Given the description of an element on the screen output the (x, y) to click on. 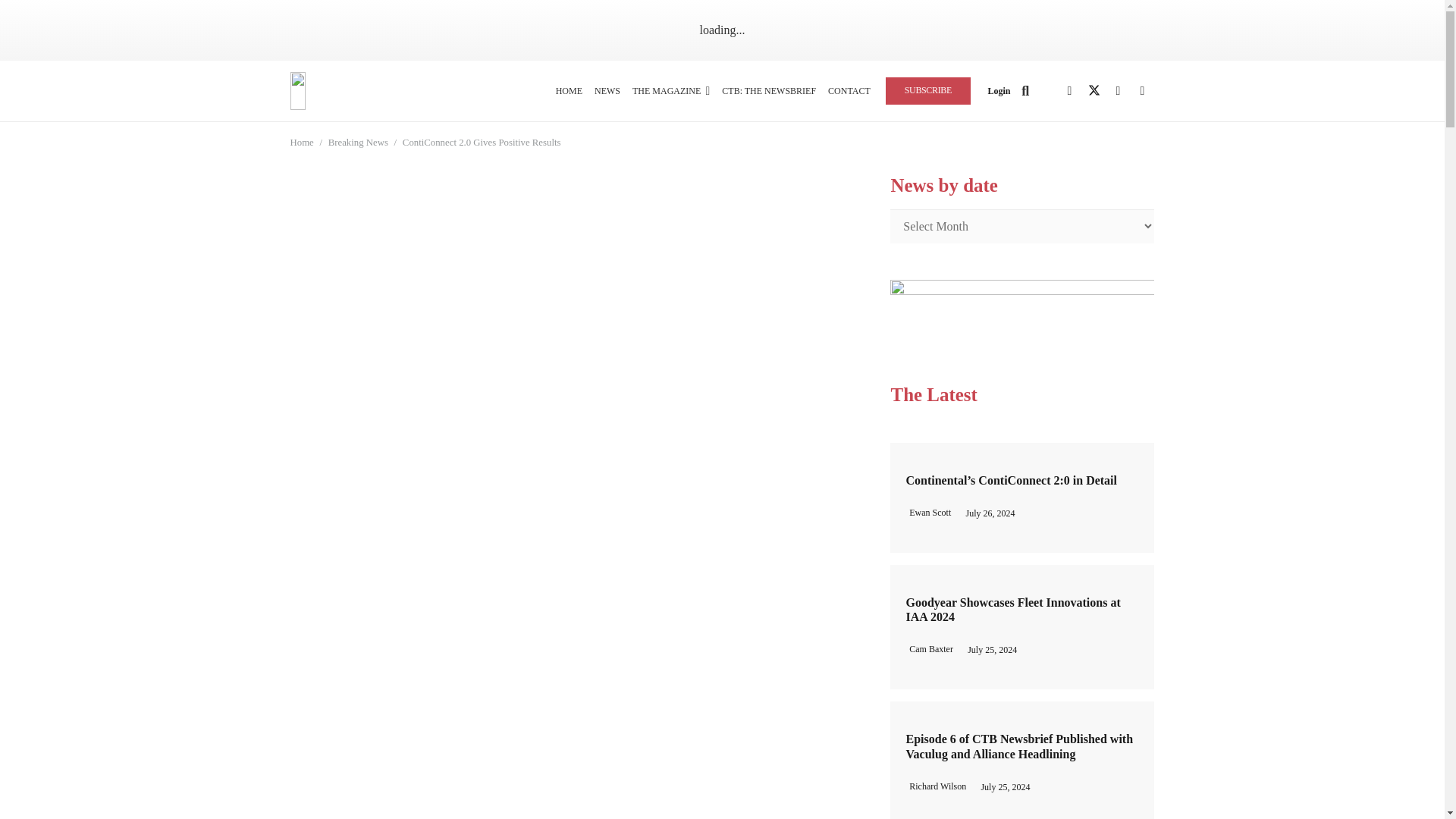
SUBSCRIBE (928, 90)
LinkedIn (1117, 90)
Login (998, 90)
WhatsApp (1141, 90)
Breaking News (358, 142)
Facebook (1069, 90)
CONTACT (849, 90)
CTB: THE NEWSBRIEF (769, 90)
THE MAGAZINE (671, 90)
Home (301, 142)
HOME (569, 90)
NEWS (607, 90)
Twitter (1093, 90)
ContiConnect 2.0 Gives Positive Results (481, 142)
